Given the description of an element on the screen output the (x, y) to click on. 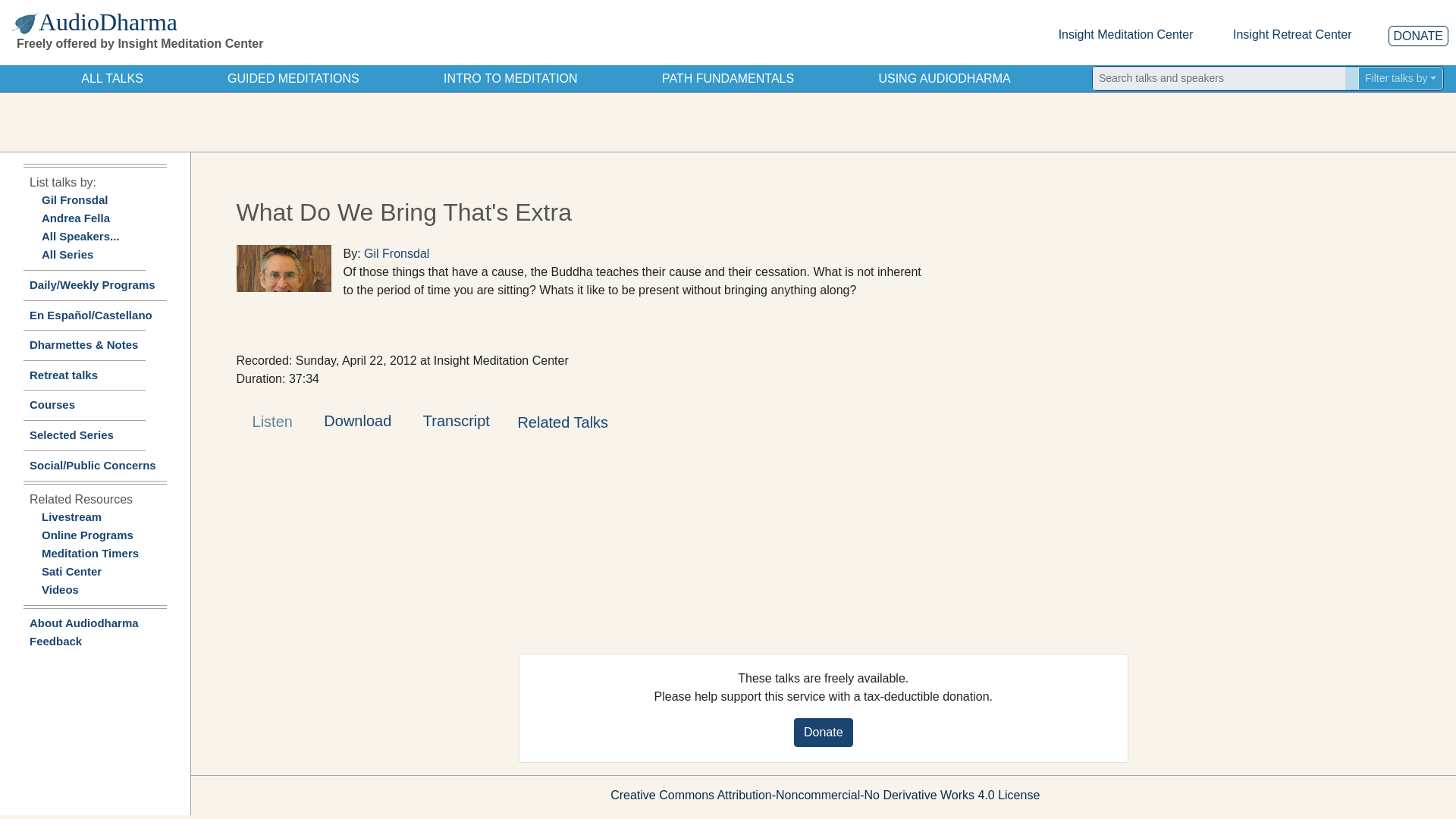
INTRO TO MEDITATION (510, 78)
ALL TALKS (112, 78)
All Series (67, 254)
GUIDED MEDITATIONS (293, 78)
Insight Meditation Center (1125, 33)
PATH FUNDAMENTALS (727, 78)
This transcript is machine generated and may contain errors (454, 422)
Insight Retreat Center (1292, 33)
AudioDharma (189, 21)
Filter talks by (1400, 78)
